Given the description of an element on the screen output the (x, y) to click on. 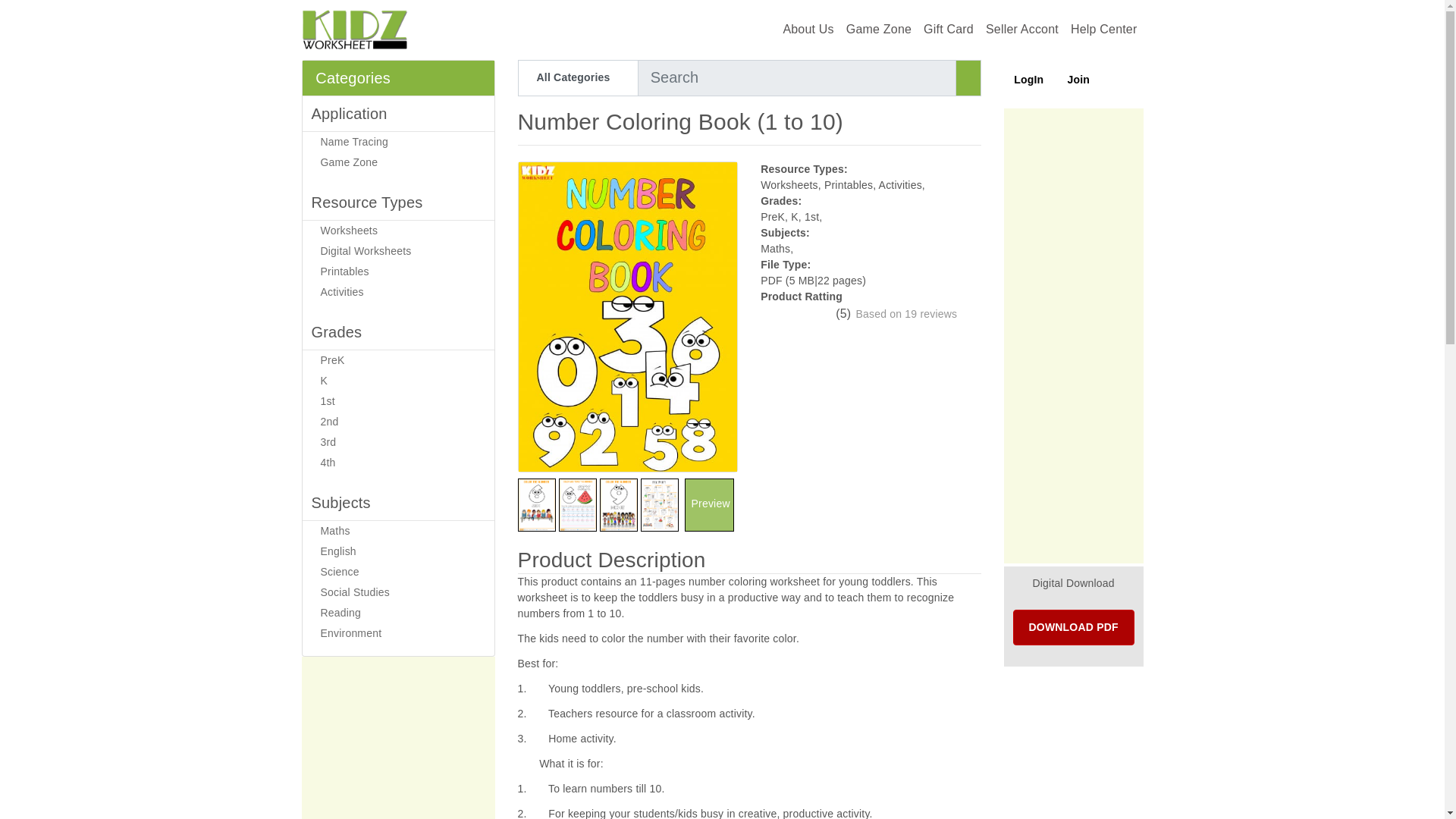
Seller Accont (1021, 29)
Help Center (1103, 29)
Game Zone (397, 162)
Gift Card (948, 29)
1st (397, 401)
Worksheets (397, 230)
Social Studies (397, 592)
DOWNLOAD PDF (1073, 627)
Digital Worksheets (397, 250)
Printables (397, 271)
LogIn (1026, 76)
Join (1072, 76)
Advertisement (398, 737)
Maths (397, 530)
Reading (397, 612)
